Given the description of an element on the screen output the (x, y) to click on. 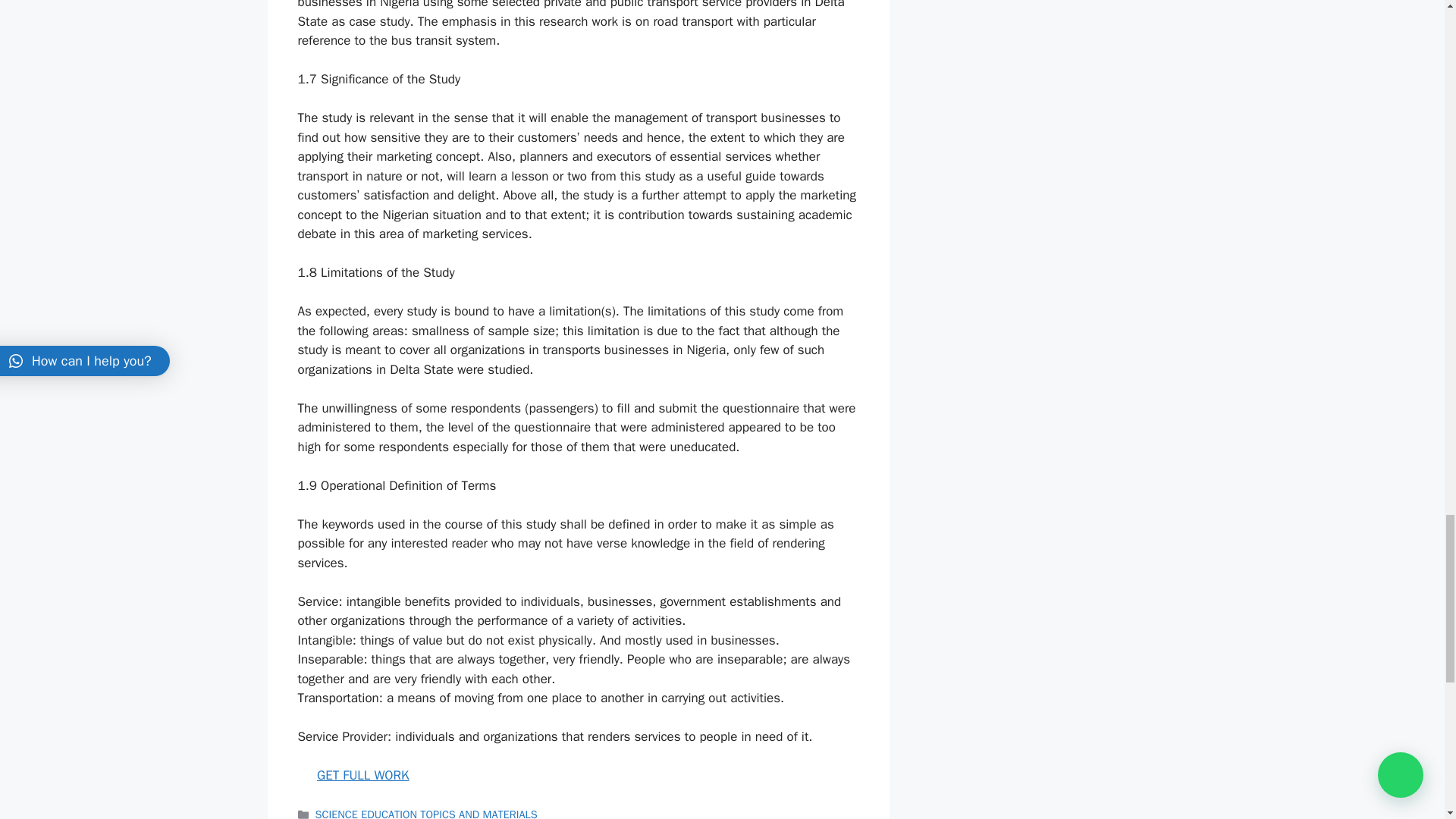
SCIENCE EDUCATION TOPICS AND MATERIALS (426, 813)
GET FULL WORK (363, 774)
